Given the description of an element on the screen output the (x, y) to click on. 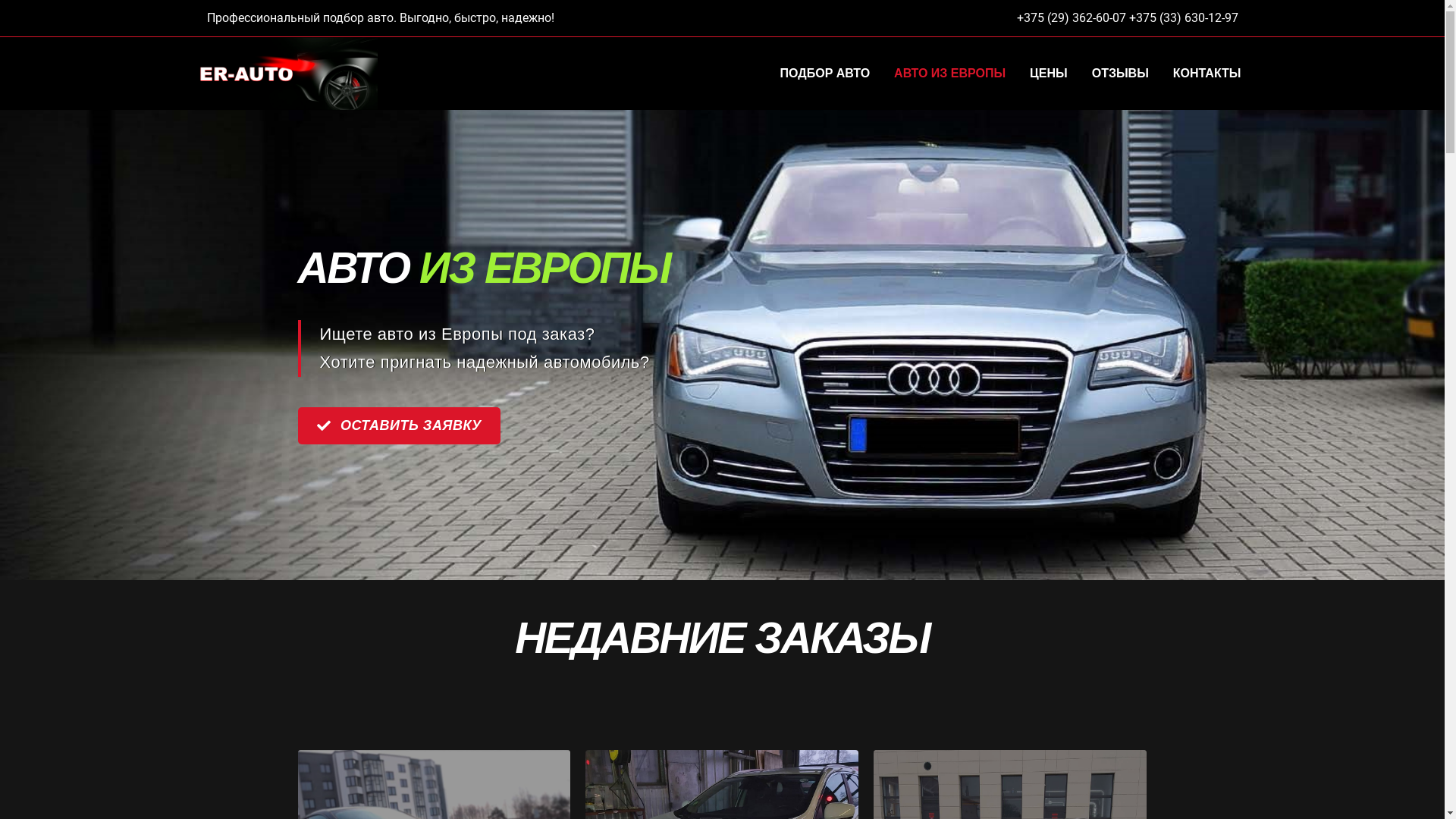
+375 (29) 362-60-07 Element type: text (1070, 17)
+375 (33) 630-12-97 Element type: text (1182, 17)
